Given the description of an element on the screen output the (x, y) to click on. 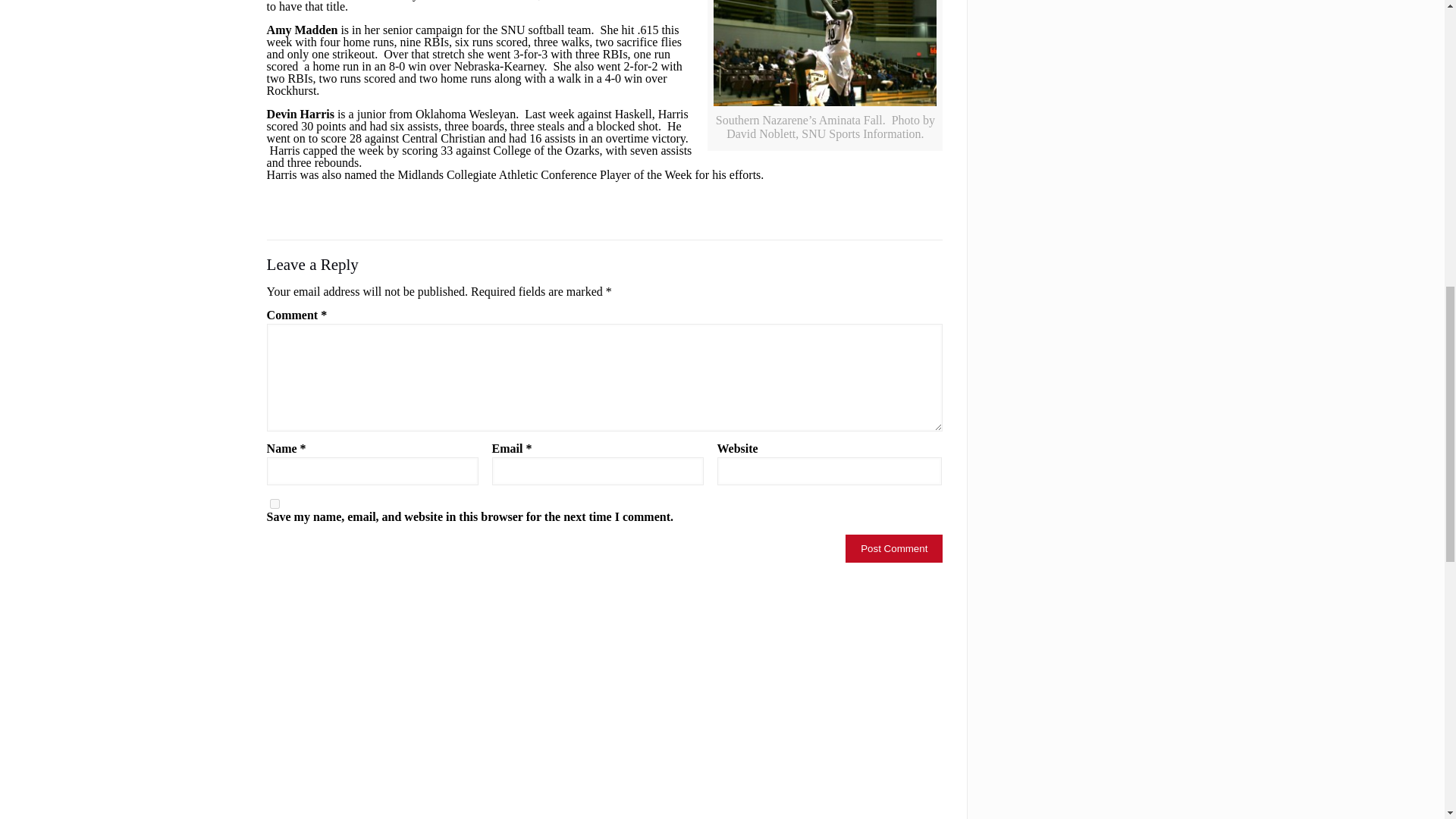
Post Comment (893, 548)
Post Comment (893, 548)
yes (274, 503)
